Given the description of an element on the screen output the (x, y) to click on. 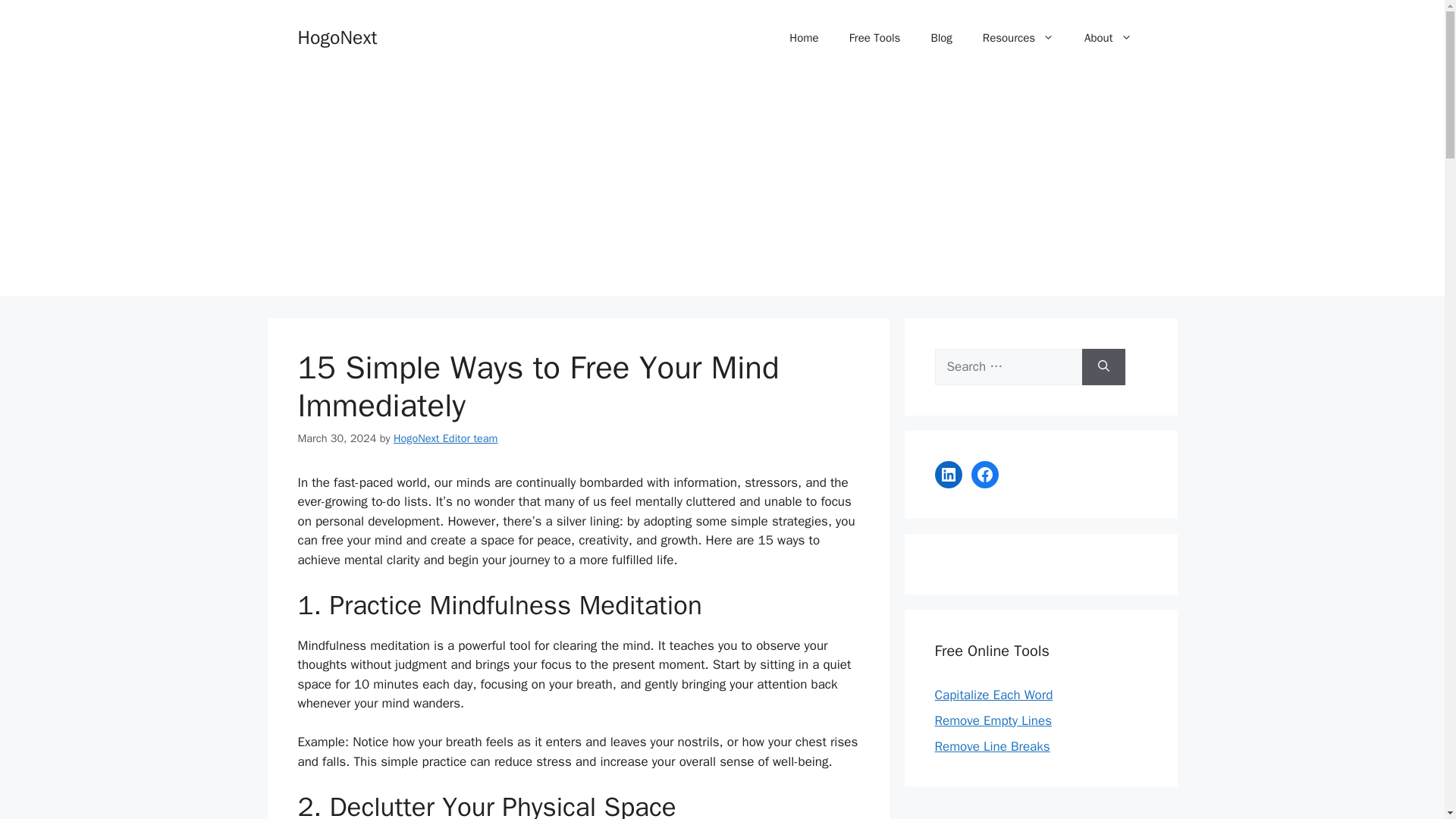
View all posts by HogoNext Editor team (445, 438)
Blog (940, 37)
Resources (1018, 37)
Home (803, 37)
HogoNext (337, 37)
LinkedIn (947, 474)
Search for: (1007, 366)
Free Tools (874, 37)
HogoNext Editor team (445, 438)
Advertisement (1040, 810)
About (1107, 37)
